Given the description of an element on the screen output the (x, y) to click on. 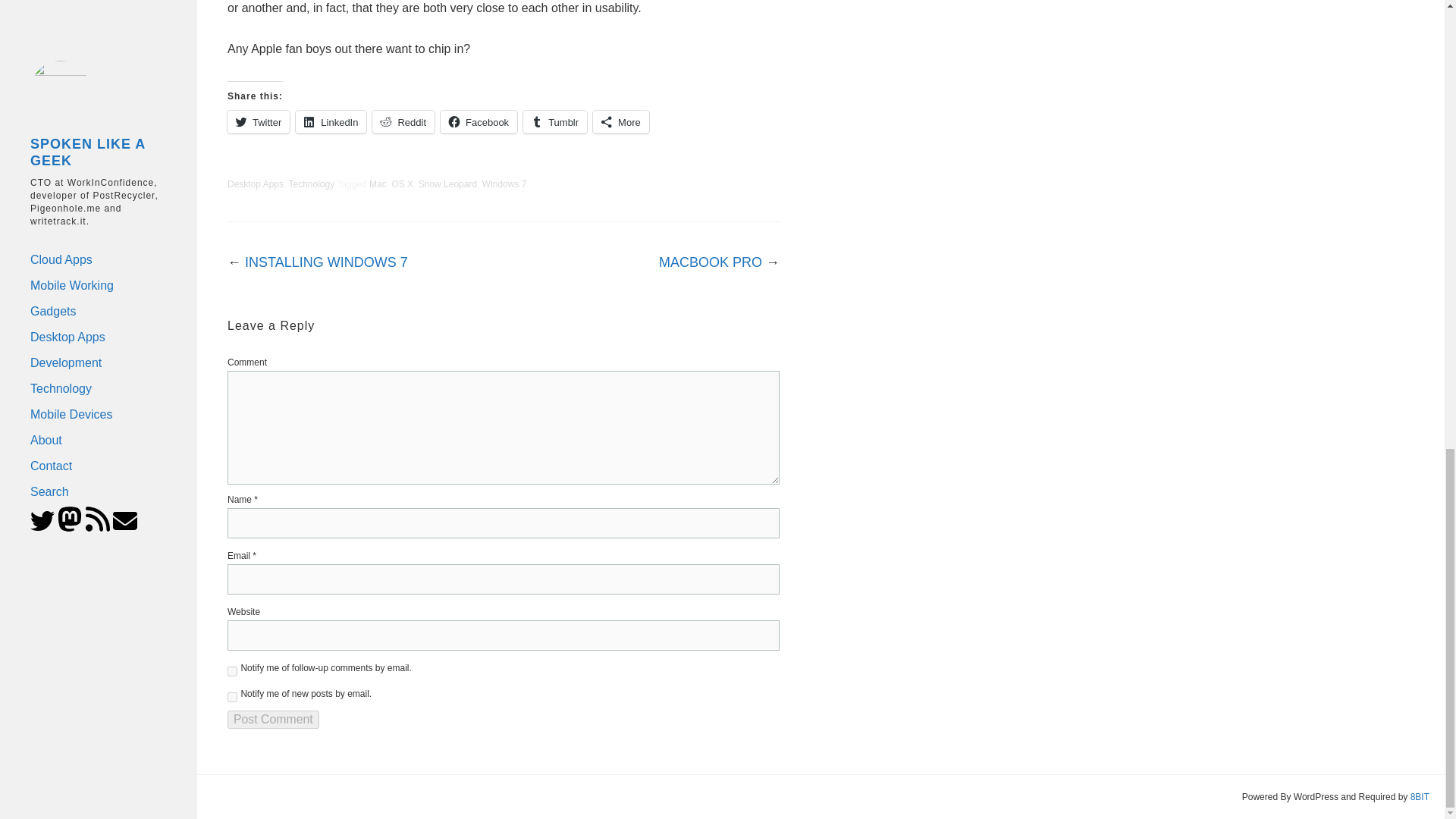
Mac (378, 184)
Windows 7 (504, 184)
subscribe (232, 671)
Desktop Apps (255, 184)
Twitter (258, 121)
Post Comment (272, 719)
subscribe (232, 696)
LinkedIn (330, 121)
More (620, 121)
Click to share on Reddit (402, 121)
